Given the description of an element on the screen output the (x, y) to click on. 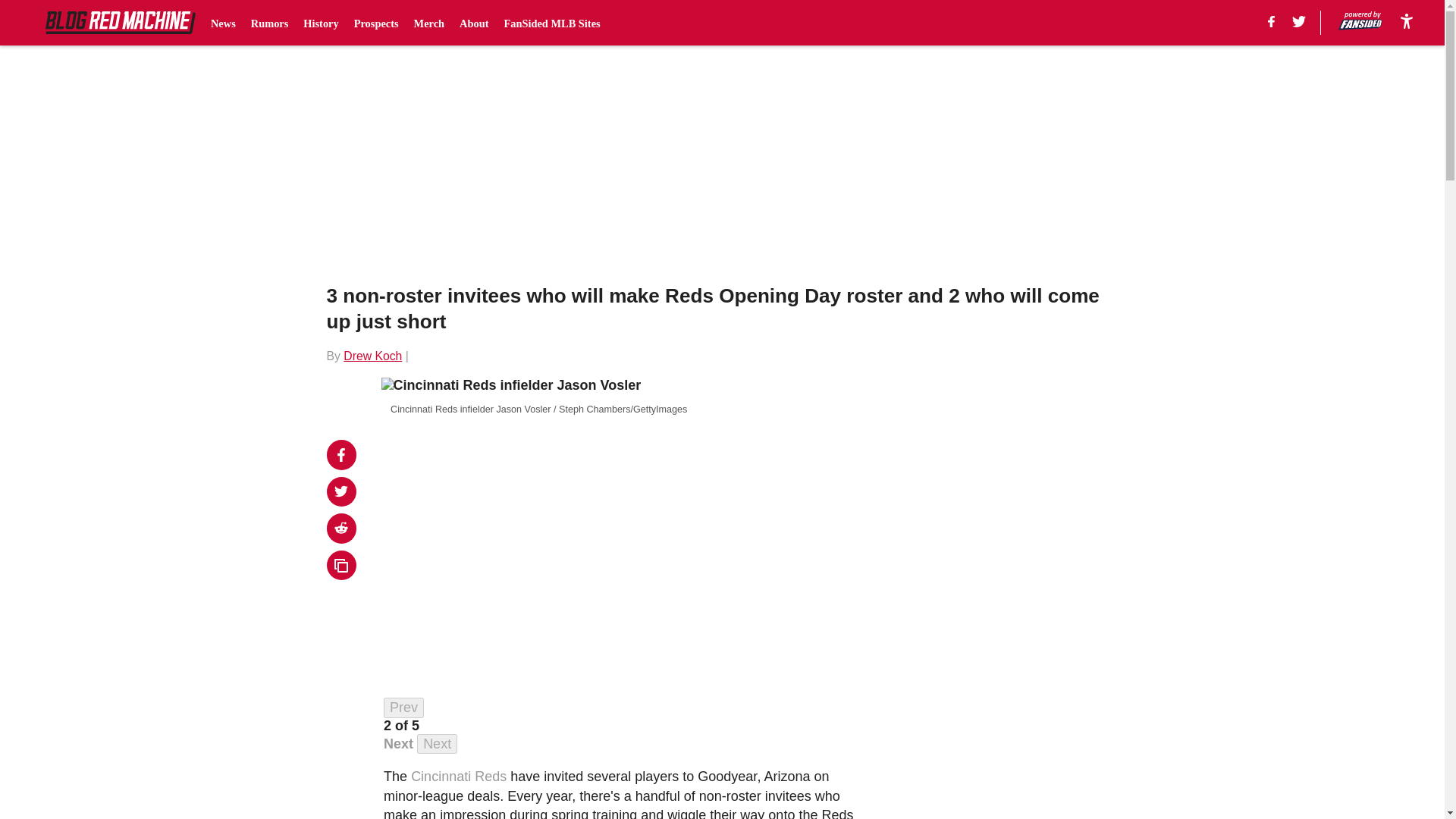
About (473, 23)
Prev (403, 707)
Next (398, 743)
Next (436, 743)
News (223, 23)
Cincinnati Reds (458, 776)
Prospects (375, 23)
FanSided MLB Sites (551, 23)
History (319, 23)
Merch (429, 23)
Rumors (269, 23)
Drew Koch (372, 355)
